Given the description of an element on the screen output the (x, y) to click on. 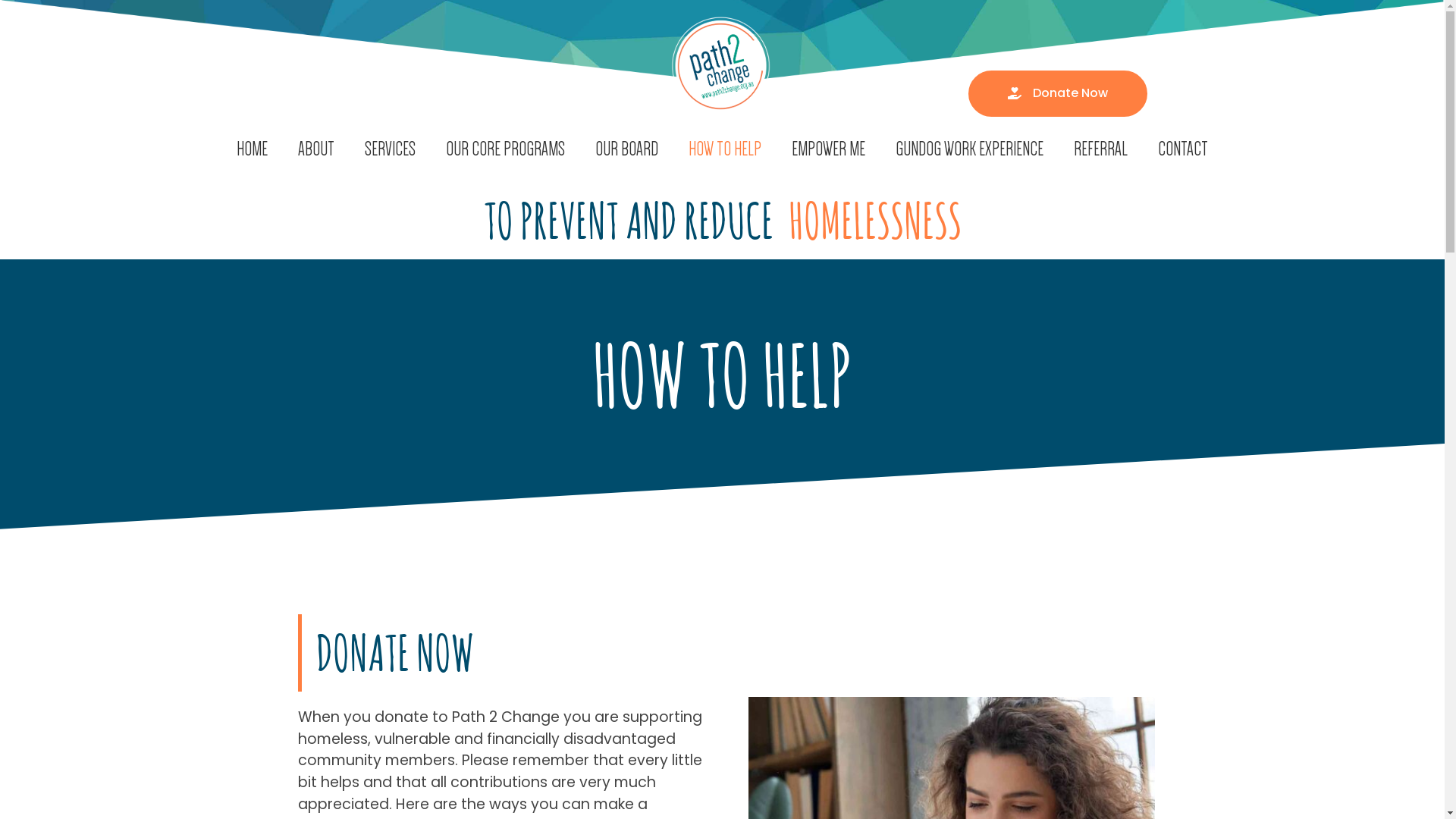
OUR CORE PROGRAMS Element type: text (505, 148)
HOW TO HELP Element type: text (724, 148)
OUR BOARD Element type: text (626, 148)
GUNDOG WORK EXPERIENCE Element type: text (969, 148)
CONTACT Element type: text (1182, 148)
REFERRAL Element type: text (1100, 148)
EMPOWER ME Element type: text (828, 148)
HOME Element type: text (251, 148)
Donate Now Element type: text (1056, 93)
ABOUT Element type: text (315, 148)
SERVICES Element type: text (389, 148)
